Given the description of an element on the screen output the (x, y) to click on. 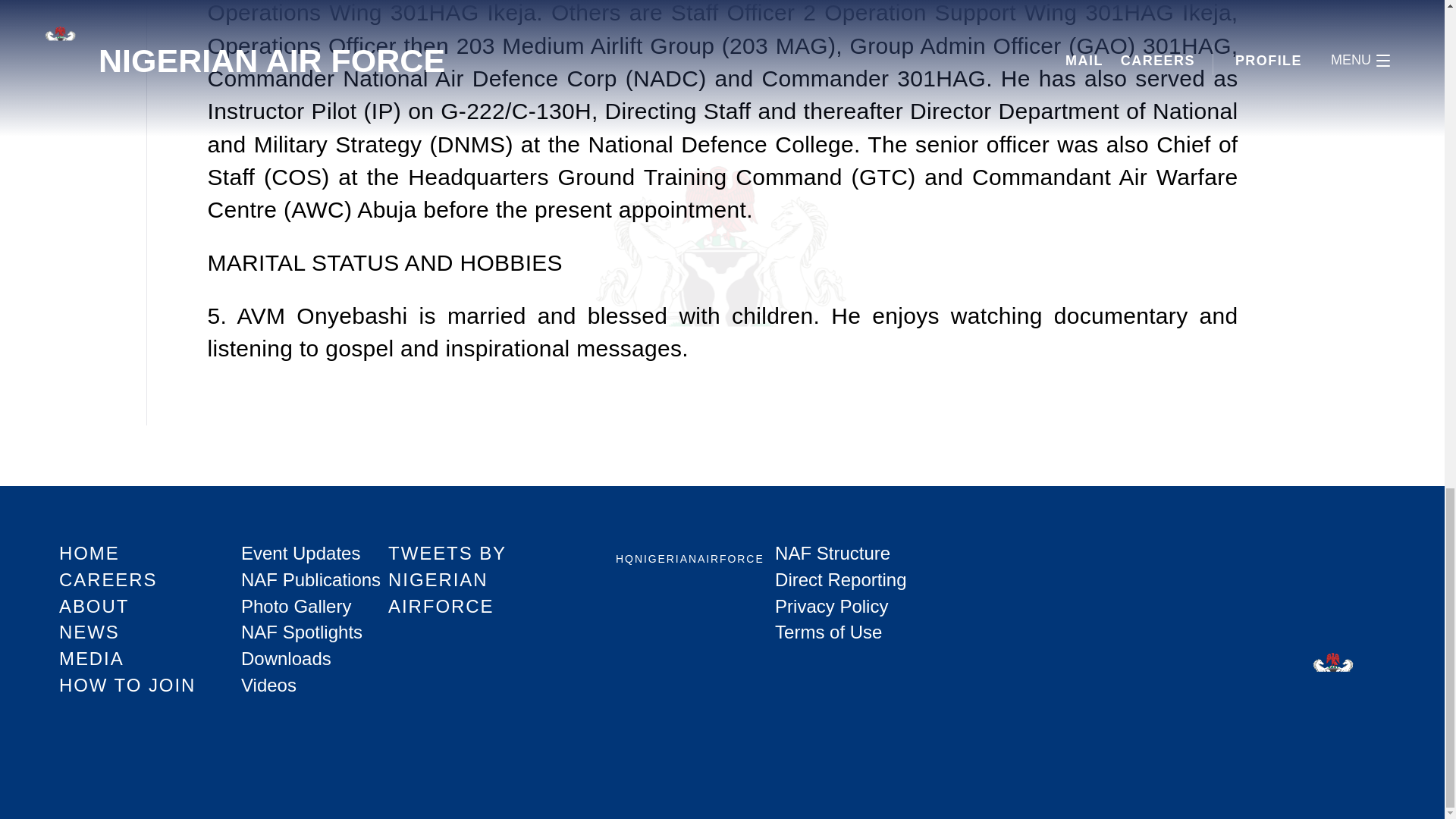
HOW TO JOIN (127, 684)
HOME (89, 552)
Event Updates (300, 552)
NAF Structure (831, 552)
MEDIA (91, 658)
ABOUT (94, 606)
Downloads (286, 658)
CAREERS (108, 579)
Direct Reporting (839, 579)
NAF Spotlights (301, 631)
